Given the description of an element on the screen output the (x, y) to click on. 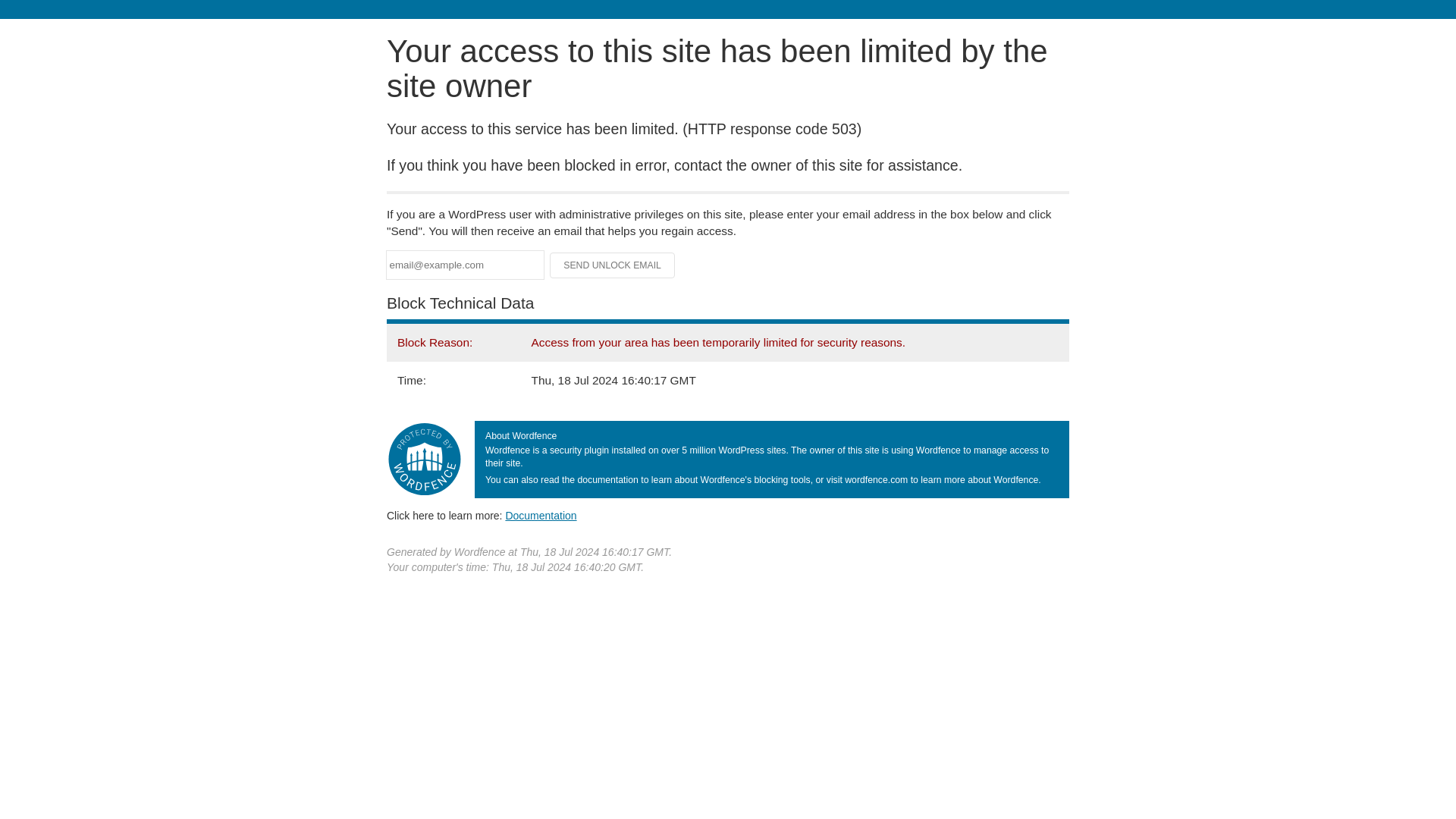
Send Unlock Email (612, 265)
Send Unlock Email (612, 265)
Documentation (540, 515)
